Given the description of an element on the screen output the (x, y) to click on. 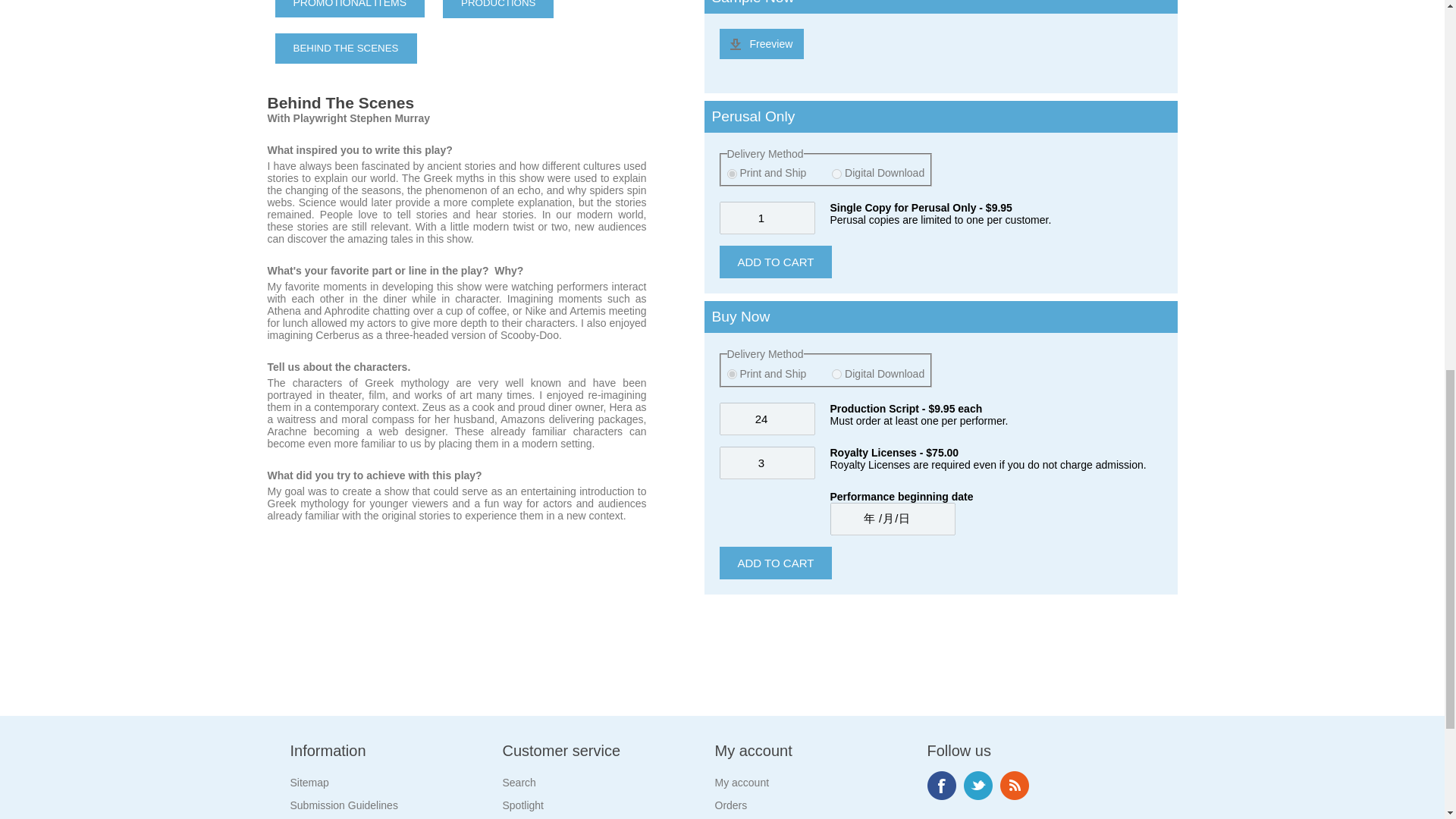
PROMOTIONAL ITEMS (350, 8)
true (836, 374)
24 (766, 418)
3 (766, 462)
1 (766, 217)
true (836, 173)
Add to cart (775, 261)
false (731, 374)
false (731, 173)
Add to Cart (775, 563)
